Given the description of an element on the screen output the (x, y) to click on. 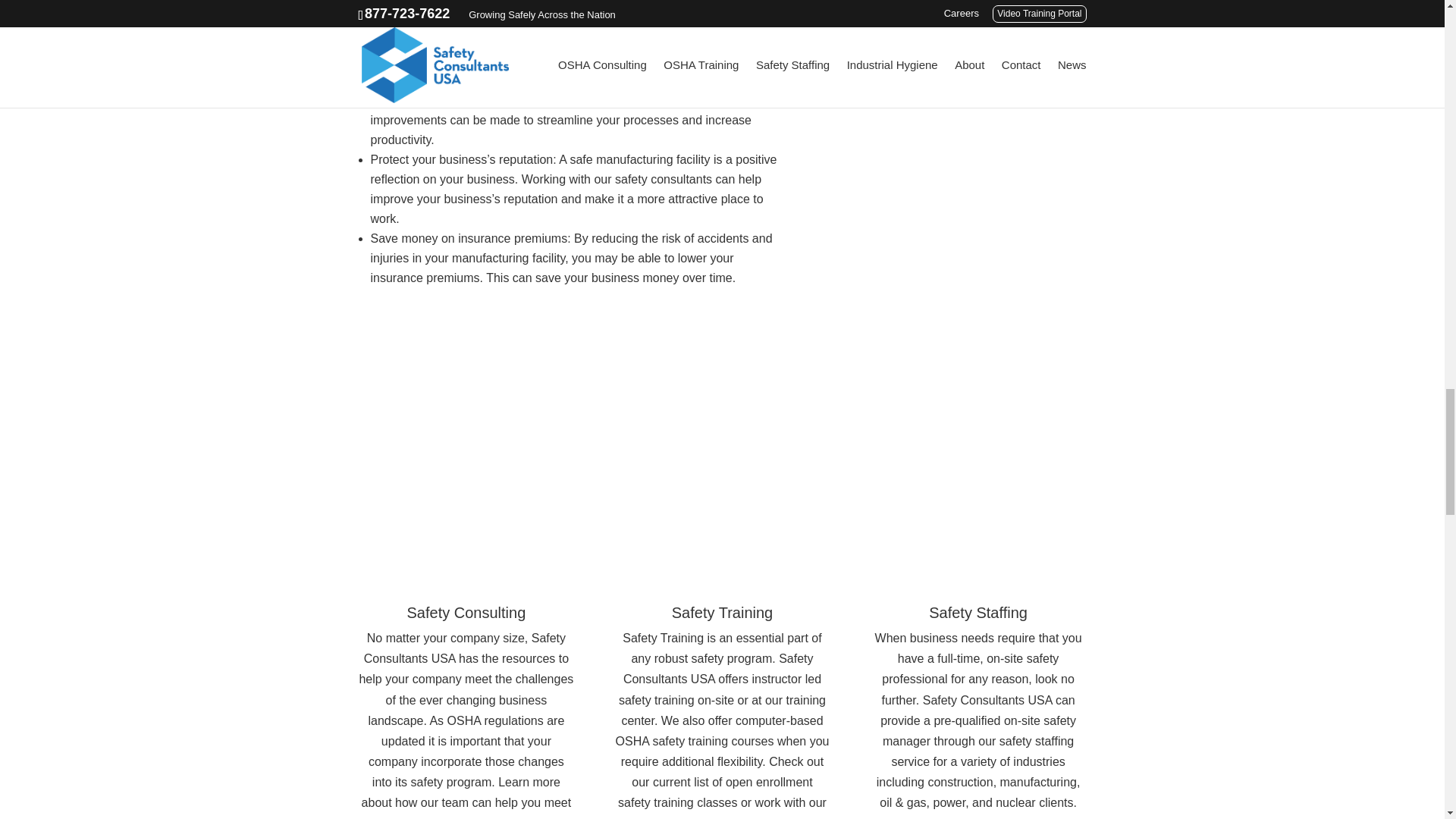
Safety Consulting (466, 612)
Safety Training (722, 612)
Safety Staffing (977, 612)
